Given the description of an element on the screen output the (x, y) to click on. 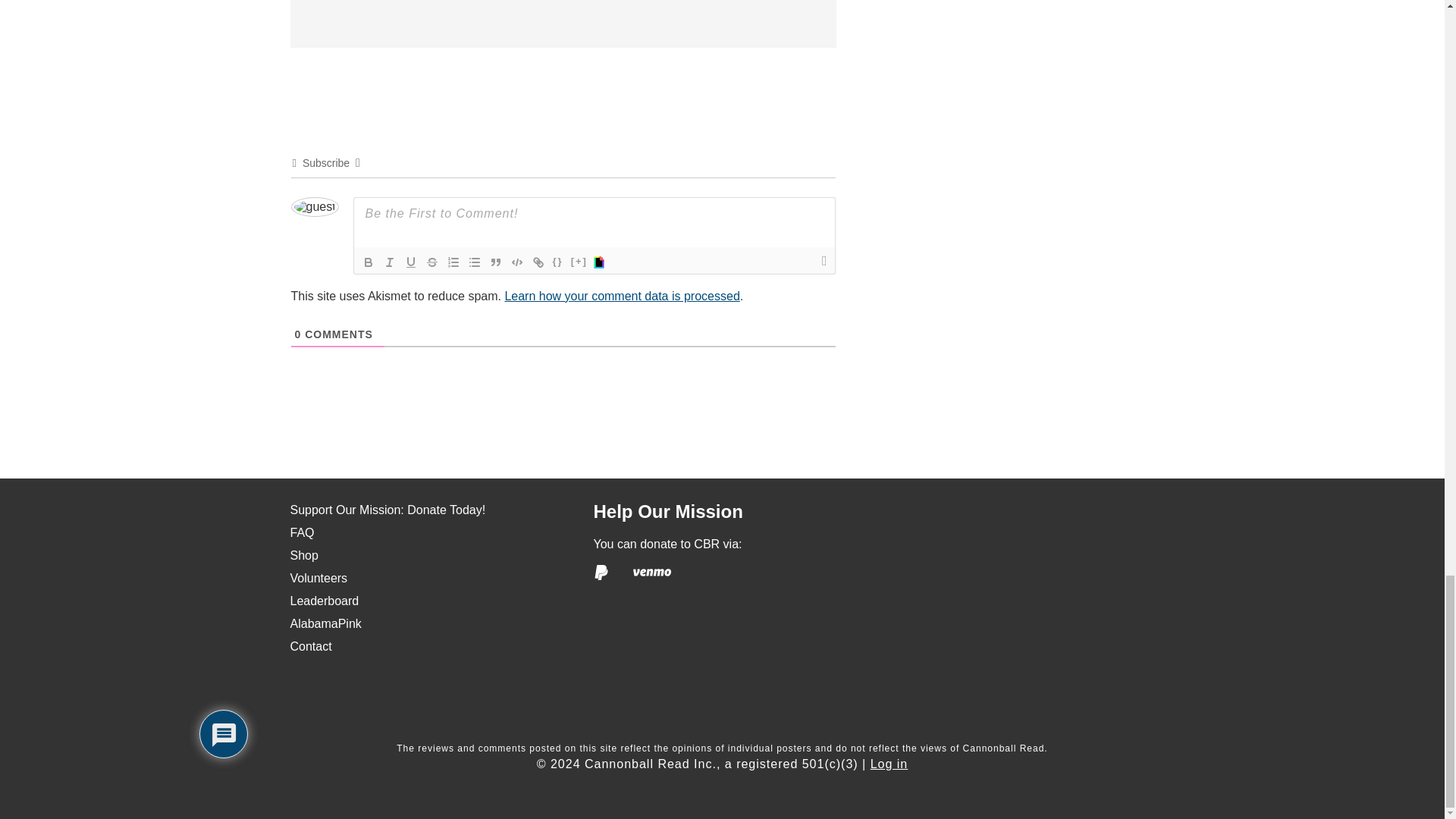
Venmo (652, 572)
PayPal (600, 572)
Strike (432, 262)
Underline (411, 262)
Unordered List (474, 262)
Bold (368, 262)
Italic (389, 262)
Blockquote (495, 262)
Ordered List (453, 262)
